Given the description of an element on the screen output the (x, y) to click on. 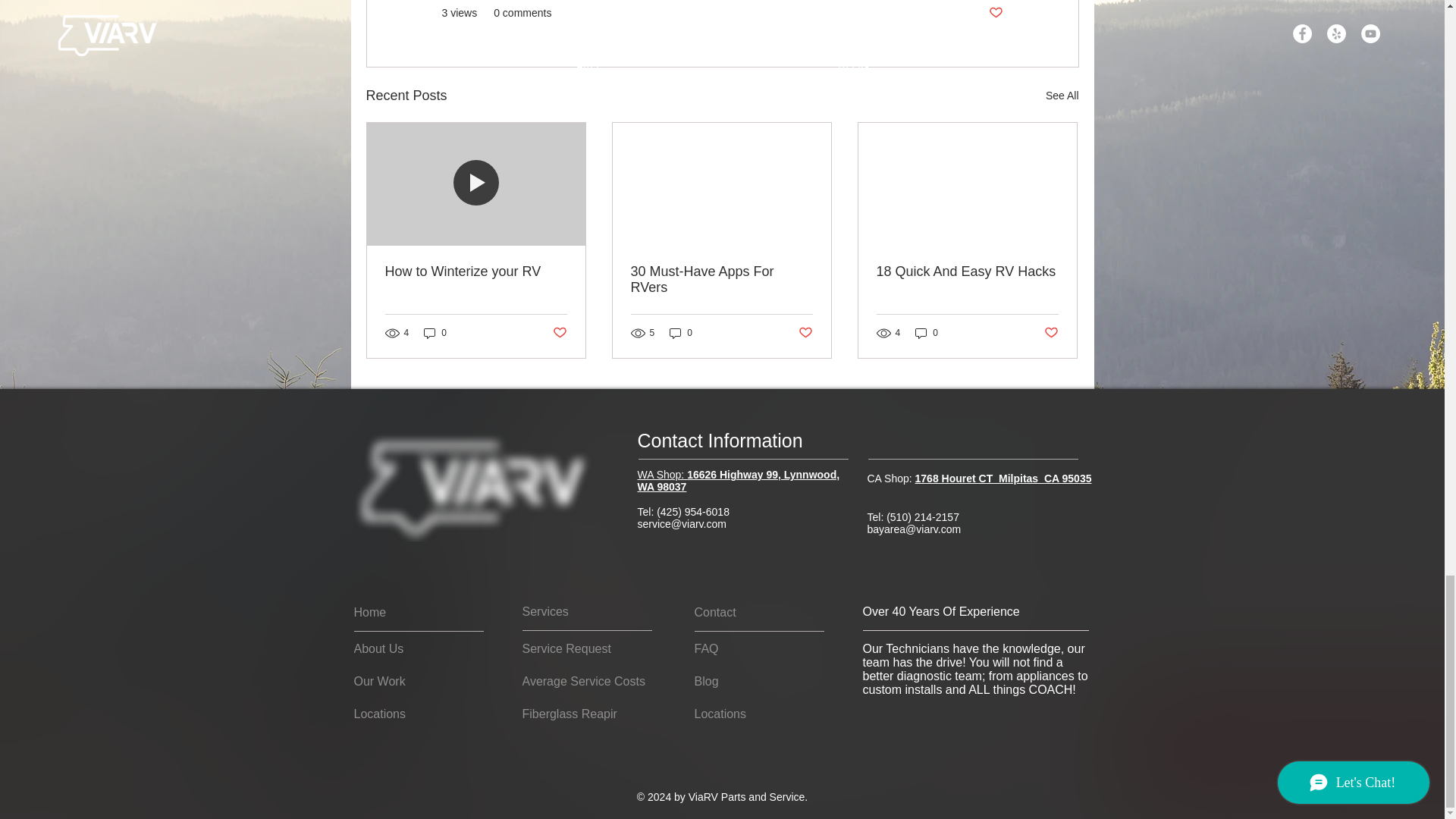
0 (435, 332)
Post not marked as liked (558, 333)
How to Winterize your RV (476, 271)
Post not marked as liked (804, 333)
18 Quick And Easy RV Hacks (967, 271)
30 Must-Have Apps For RVers (721, 279)
Post not marked as liked (995, 12)
See All (1061, 96)
0 (681, 332)
